Given the description of an element on the screen output the (x, y) to click on. 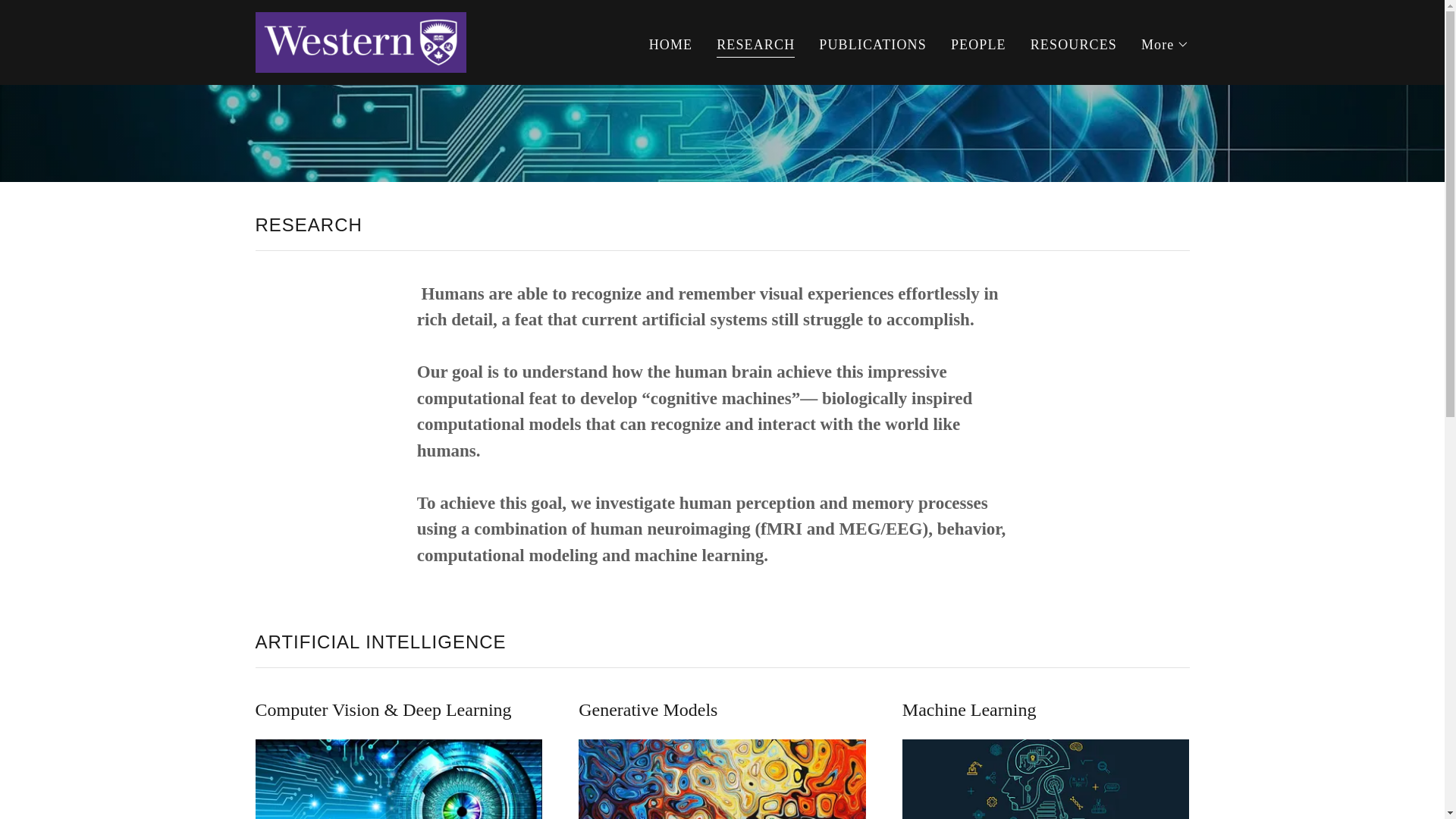
PEOPLE (978, 43)
HOME (671, 43)
RESEARCH (755, 45)
PUBLICATIONS (872, 43)
RESOURCES (1073, 43)
More (1165, 44)
Cog Neuro AI Lab (359, 40)
